Given the description of an element on the screen output the (x, y) to click on. 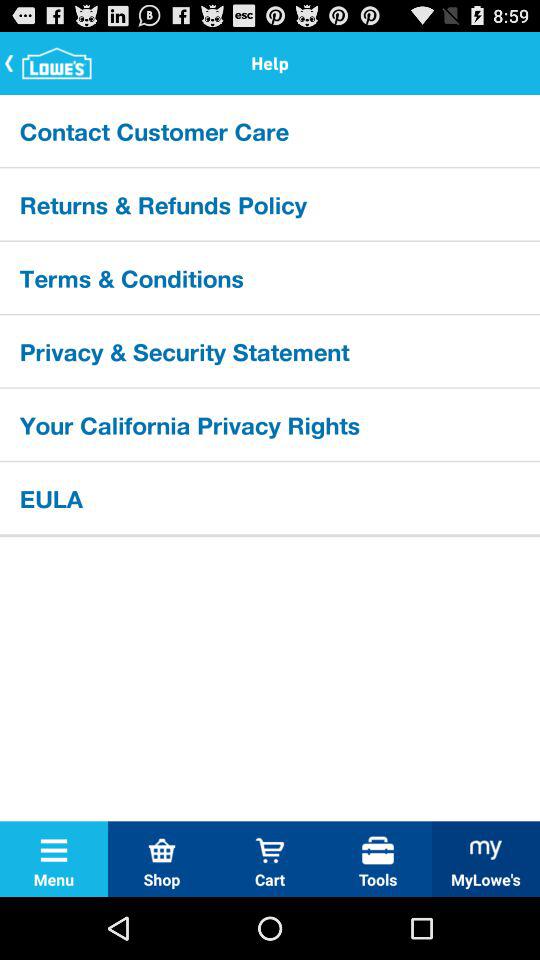
scroll until terms & conditions (270, 277)
